Given the description of an element on the screen output the (x, y) to click on. 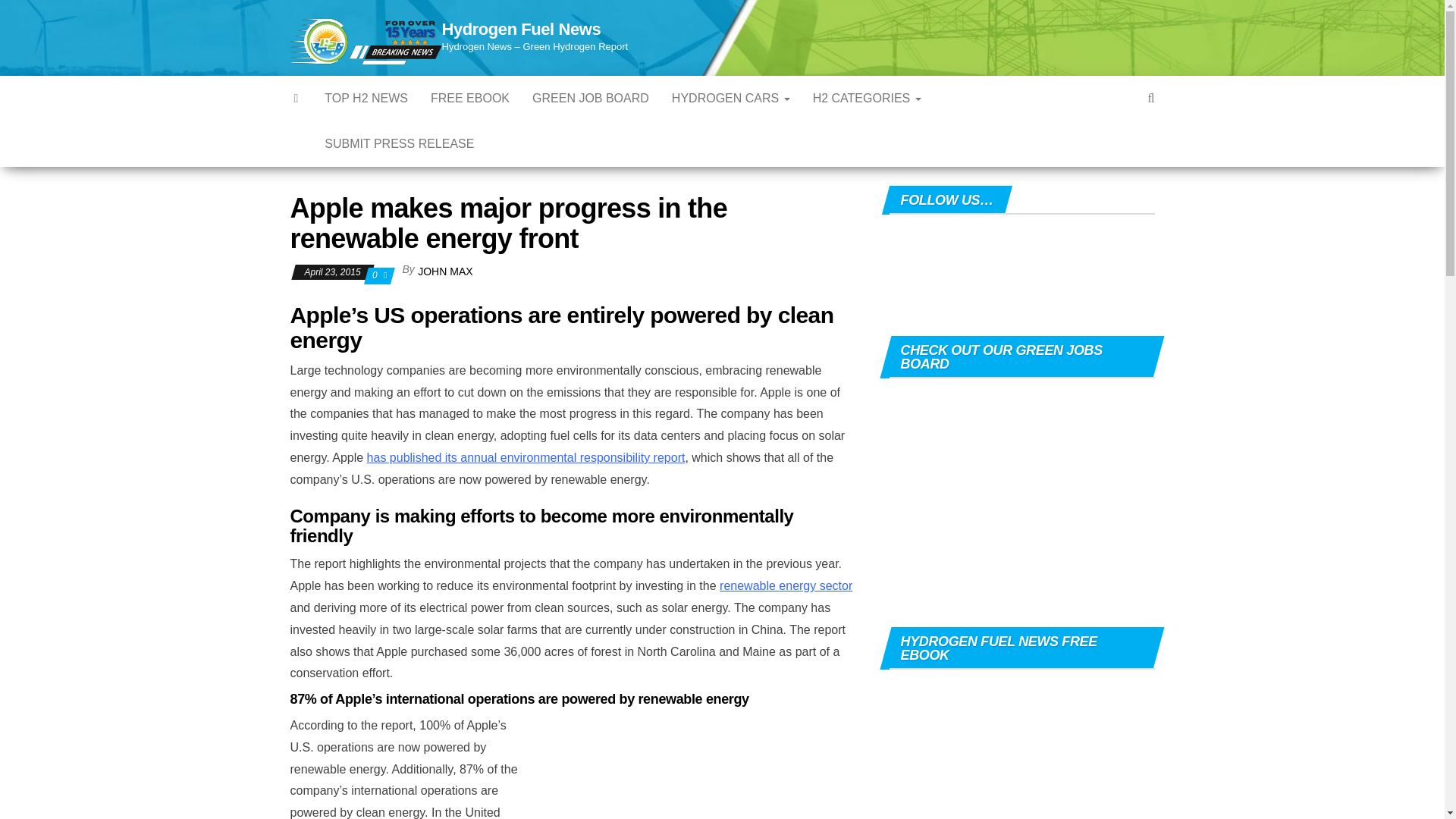
Green Job Board (591, 98)
Top H2 News (366, 98)
FREE EBOOK (470, 98)
Hydrogen Cars (731, 98)
TOP H2 NEWS (366, 98)
GREEN JOB BOARD (591, 98)
Hydrogen Fuel News (520, 28)
HYDROGEN CARS (731, 98)
H2 CATEGORIES (867, 98)
Free ebook (470, 98)
